Given the description of an element on the screen output the (x, y) to click on. 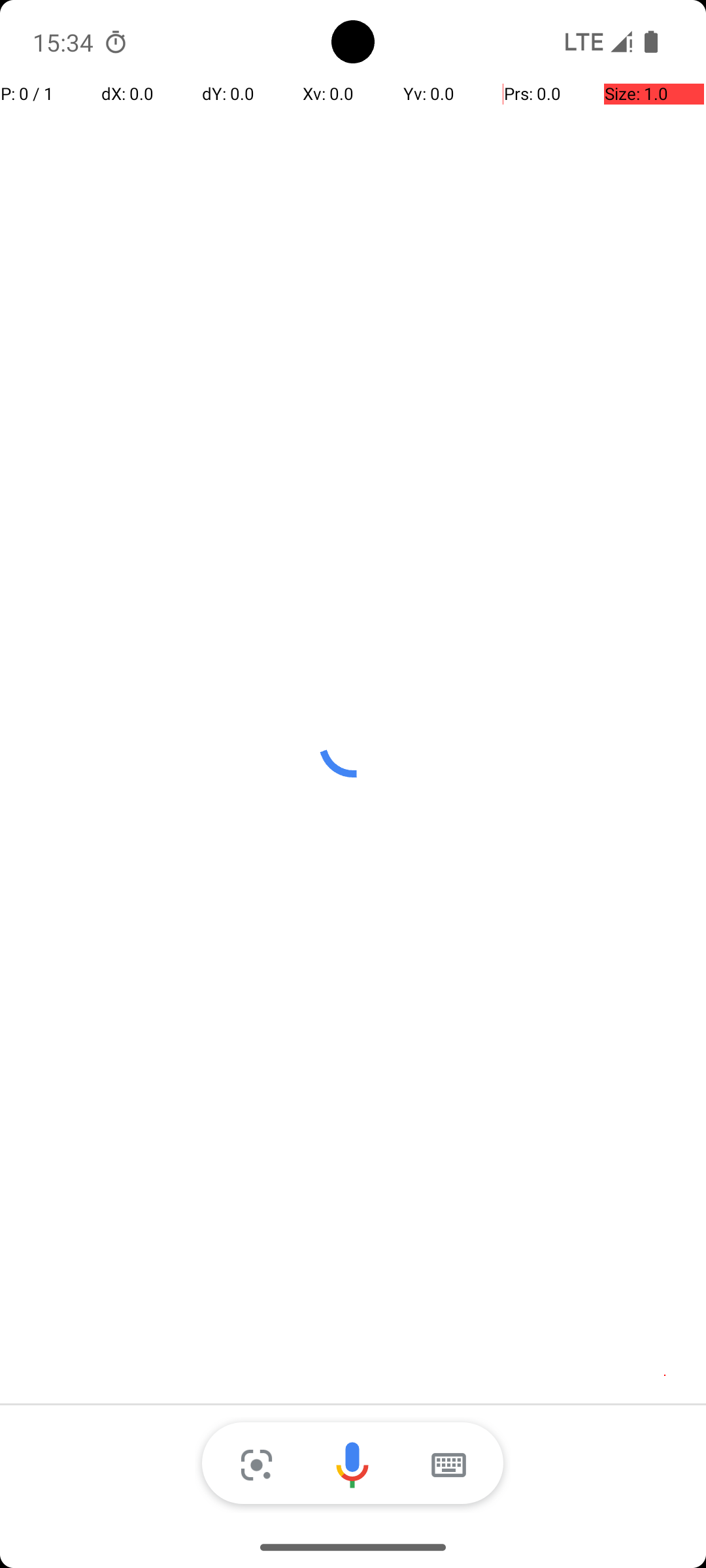
Assistant Element type: android.widget.RelativeLayout (353, 1464)
Lens icon Element type: android.widget.ImageView (256, 1465)
